Given the description of an element on the screen output the (x, y) to click on. 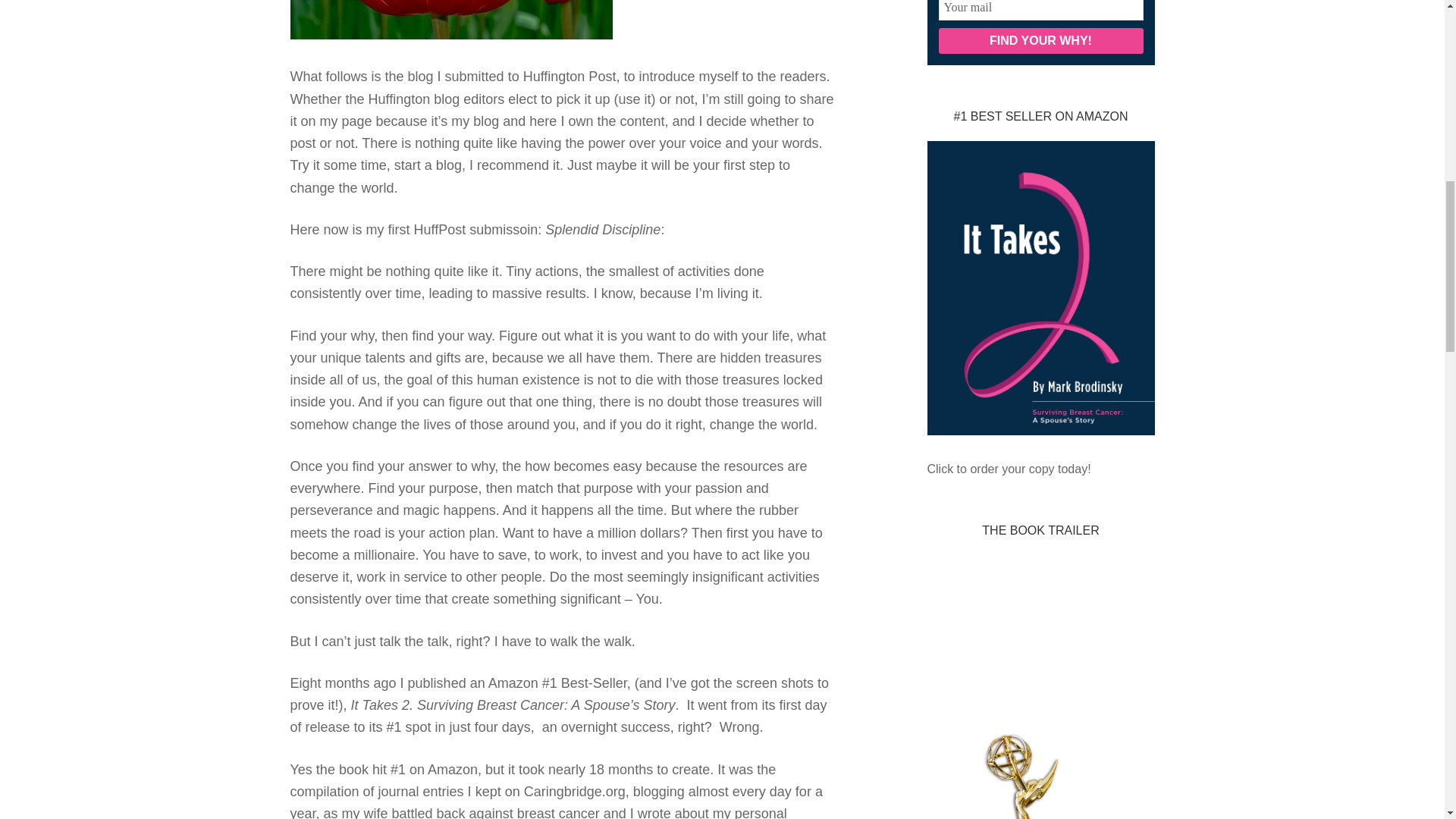
Find your Why! (1040, 40)
Find your Why! (1040, 40)
